Given the description of an element on the screen output the (x, y) to click on. 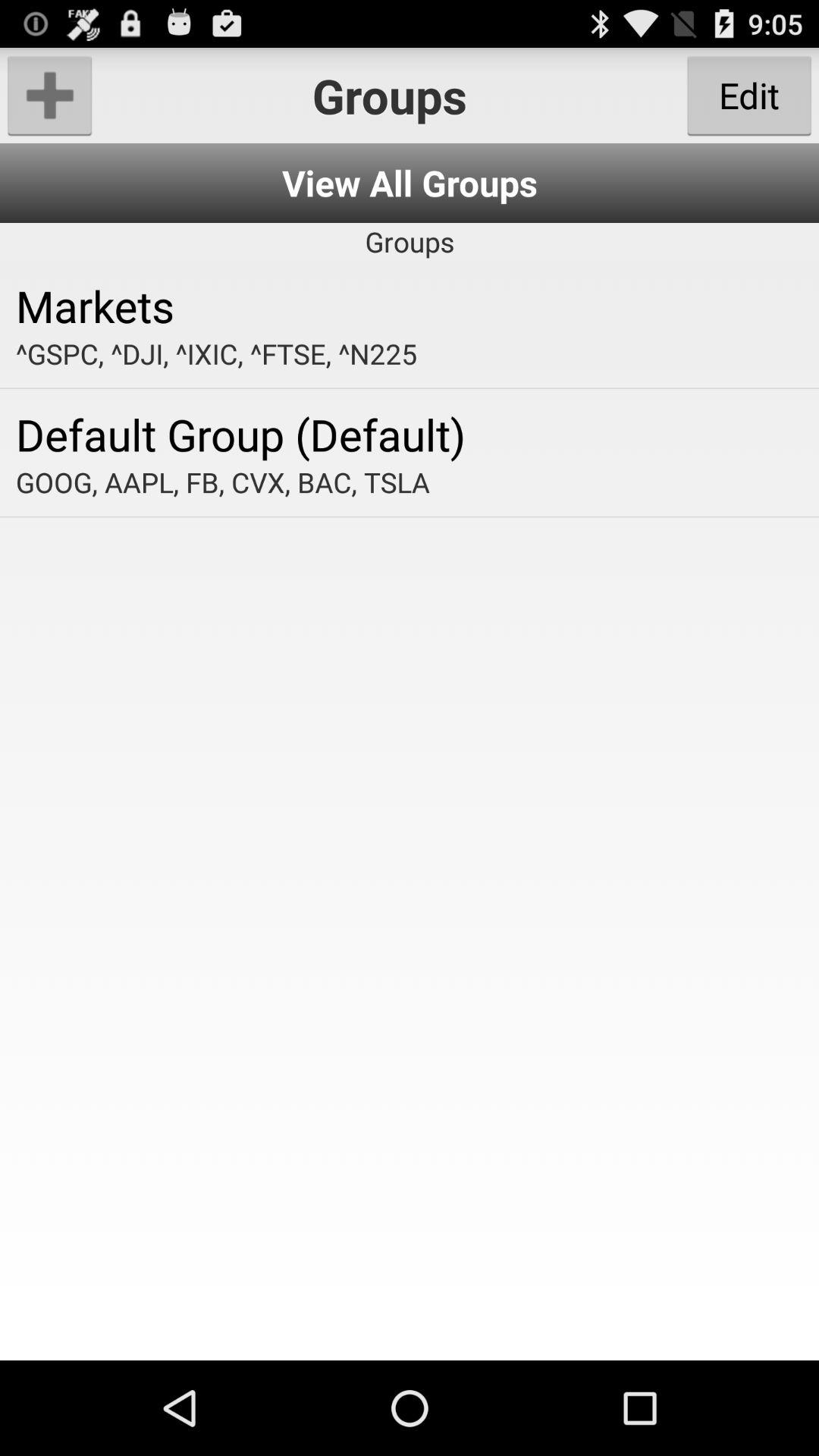
choose the app next to the groups (49, 95)
